Given the description of an element on the screen output the (x, y) to click on. 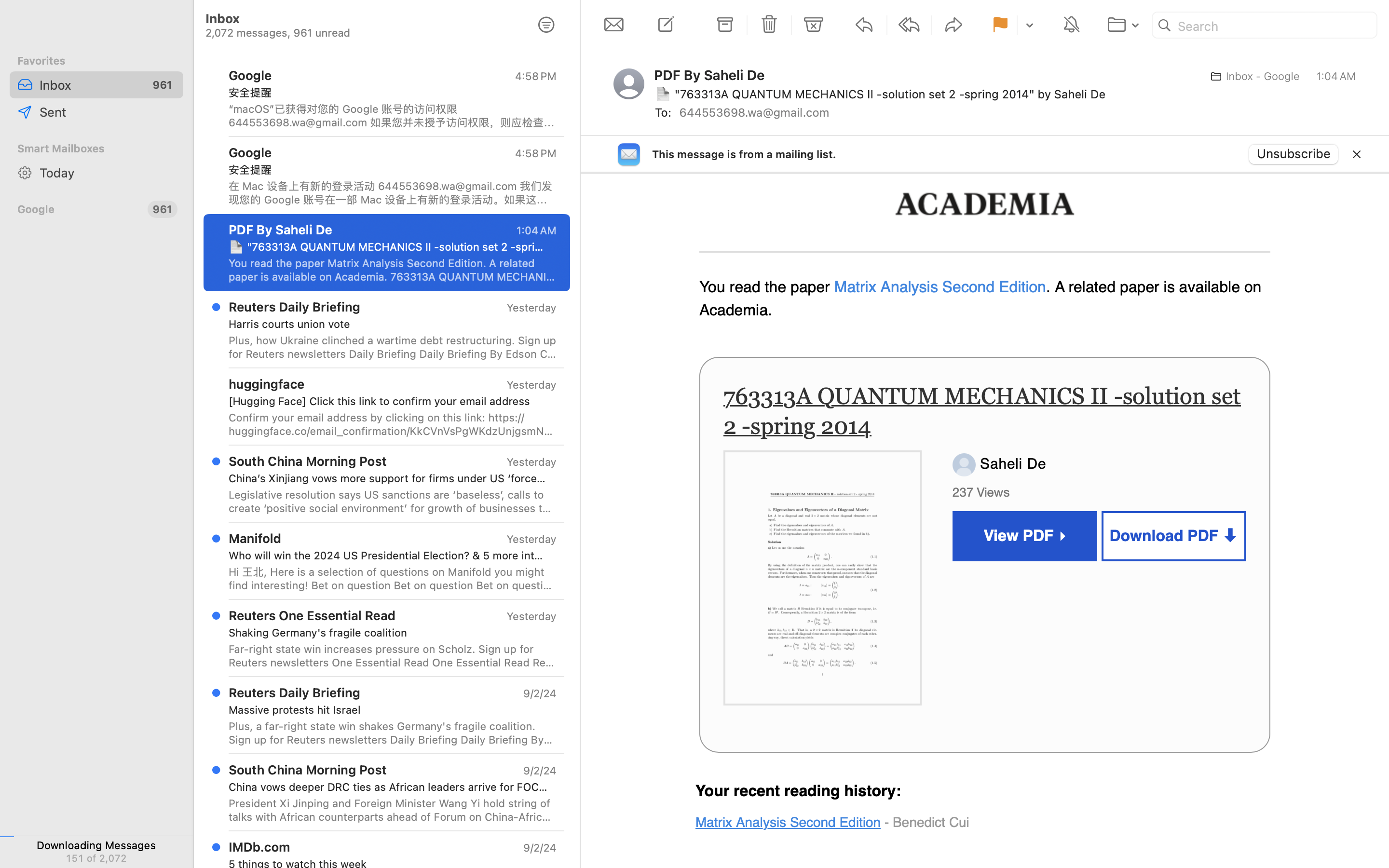
China’s Xinjiang vows more support for firms under US ‘forced labour’ sanctions Element type: AXStaticText (388, 478)
在 Mac 设备上有新的登录活动 644553698.wa@gmail.com 我们发现您的 Google 账号在一部 Mac 设备上有新的登录活动。如果这是您本人的操作，那么您无需采取任何行动。如果这不是您本人的操作，我们会帮助您保护您的账号。 查看活动 您也可以访问以下网址查看安全性活动： https://myaccount.google.com/notifications 我们向您发送这封电子邮件，目的是让您了解关于您的 Google 账号和服务的重大变化。 © 2024 Google LLC, 1600 Amphitheatre Parkway, Mountain View, CA 94043, USA Element type: AXStaticText (392, 192)
2,072 new messages Element type: AXStaticText (95, 857)
IMDb.com Element type: AXStaticText (259, 846)
